Given the description of an element on the screen output the (x, y) to click on. 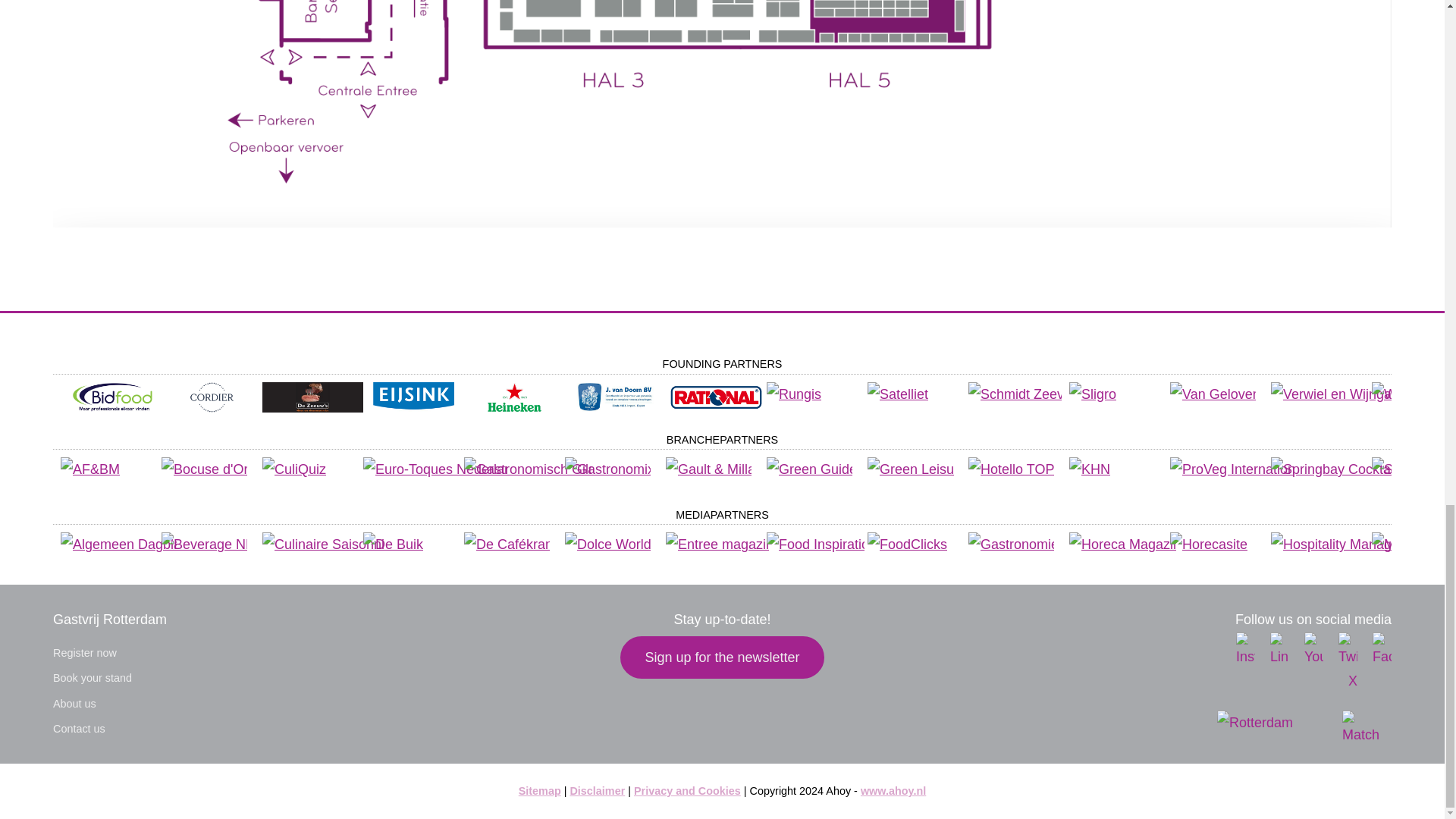
De Zeeuw (312, 407)
Bidfood (110, 407)
Cordier (211, 407)
